Given the description of an element on the screen output the (x, y) to click on. 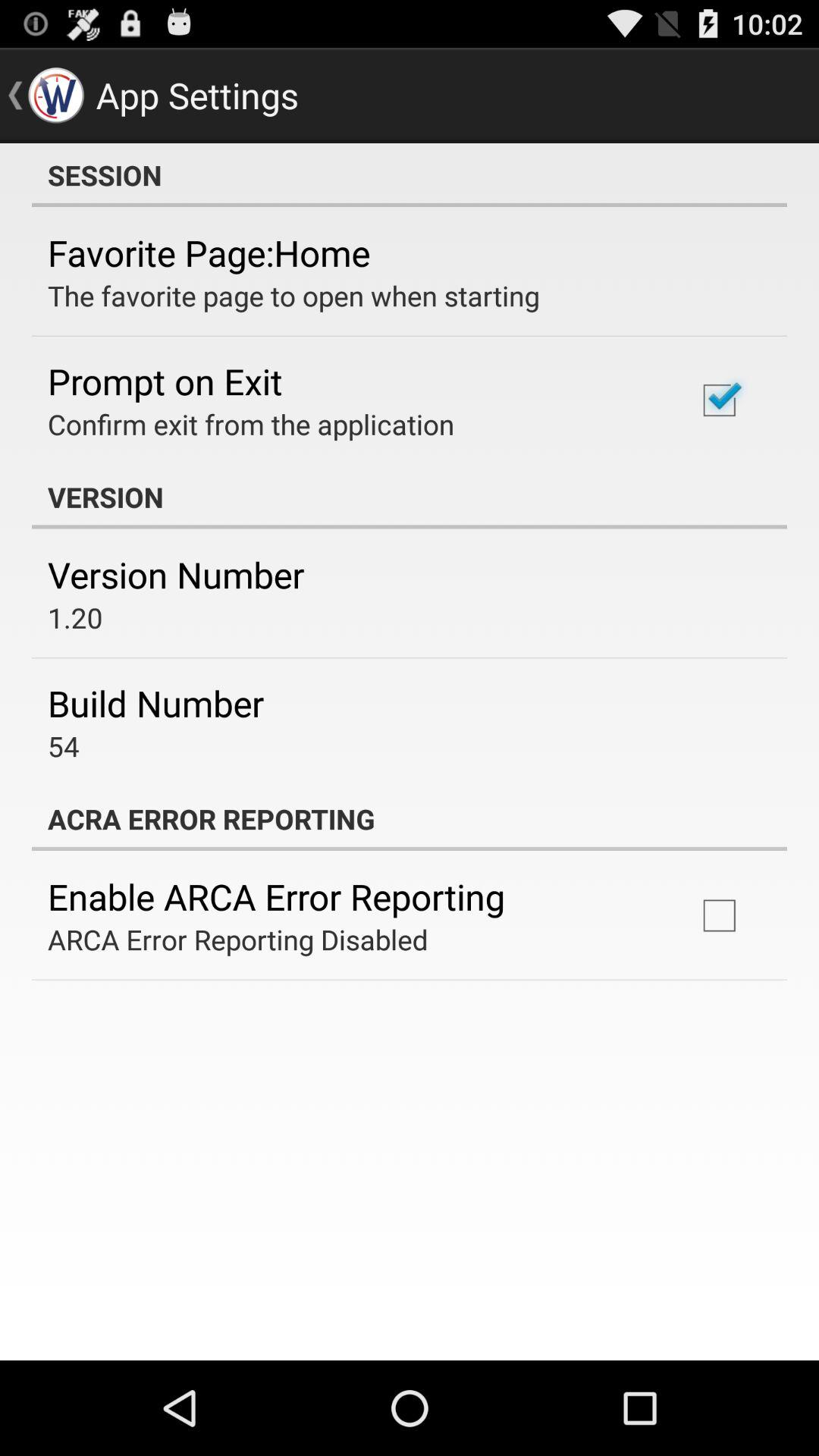
open the app above the acra error reporting (63, 745)
